Given the description of an element on the screen output the (x, y) to click on. 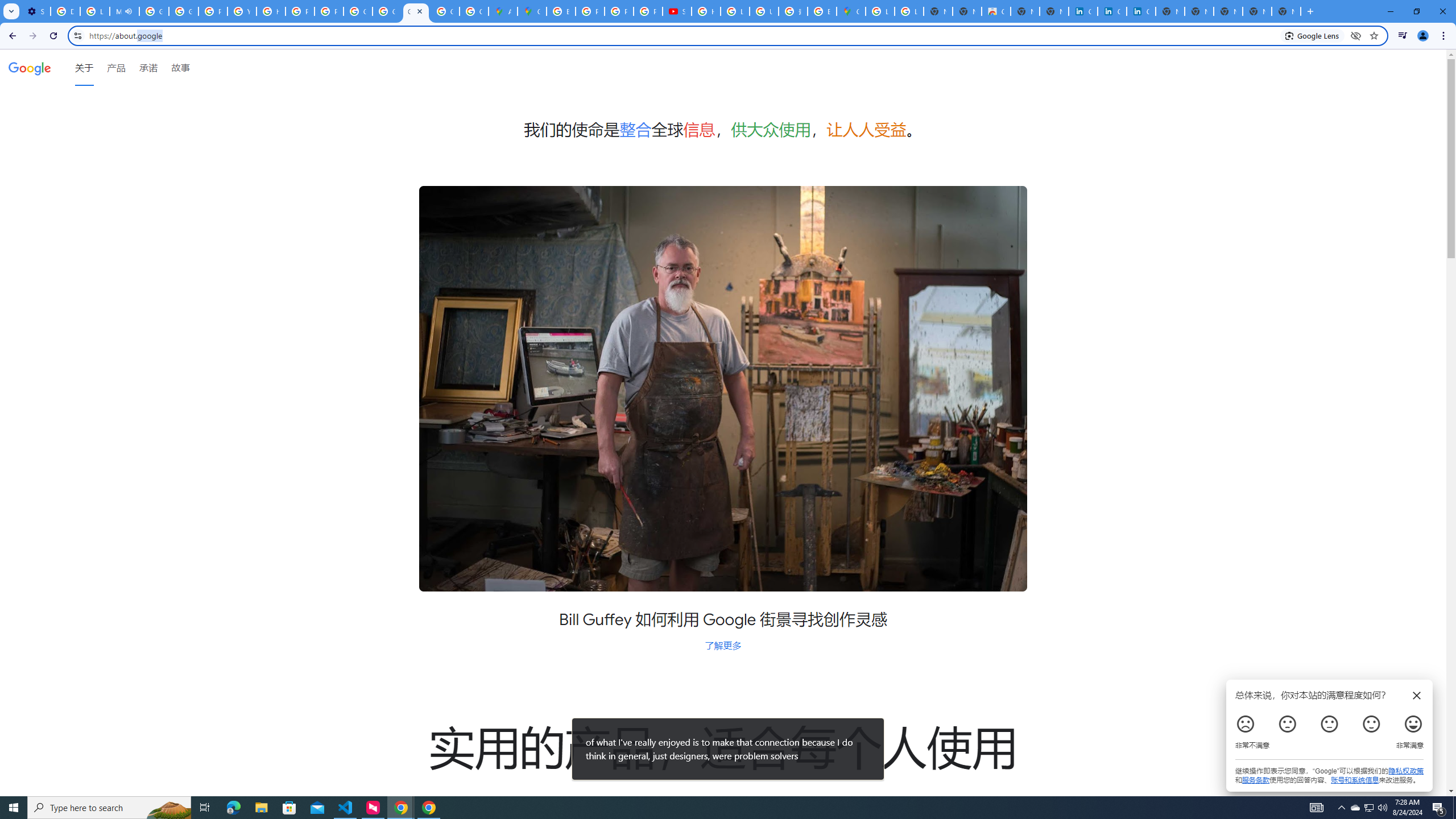
Search with Google Lens (1311, 35)
Copyright Policy (1140, 11)
Explore new street-level details - Google Maps Help (821, 11)
Privacy Help Center - Policies Help (590, 11)
